Given the description of an element on the screen output the (x, y) to click on. 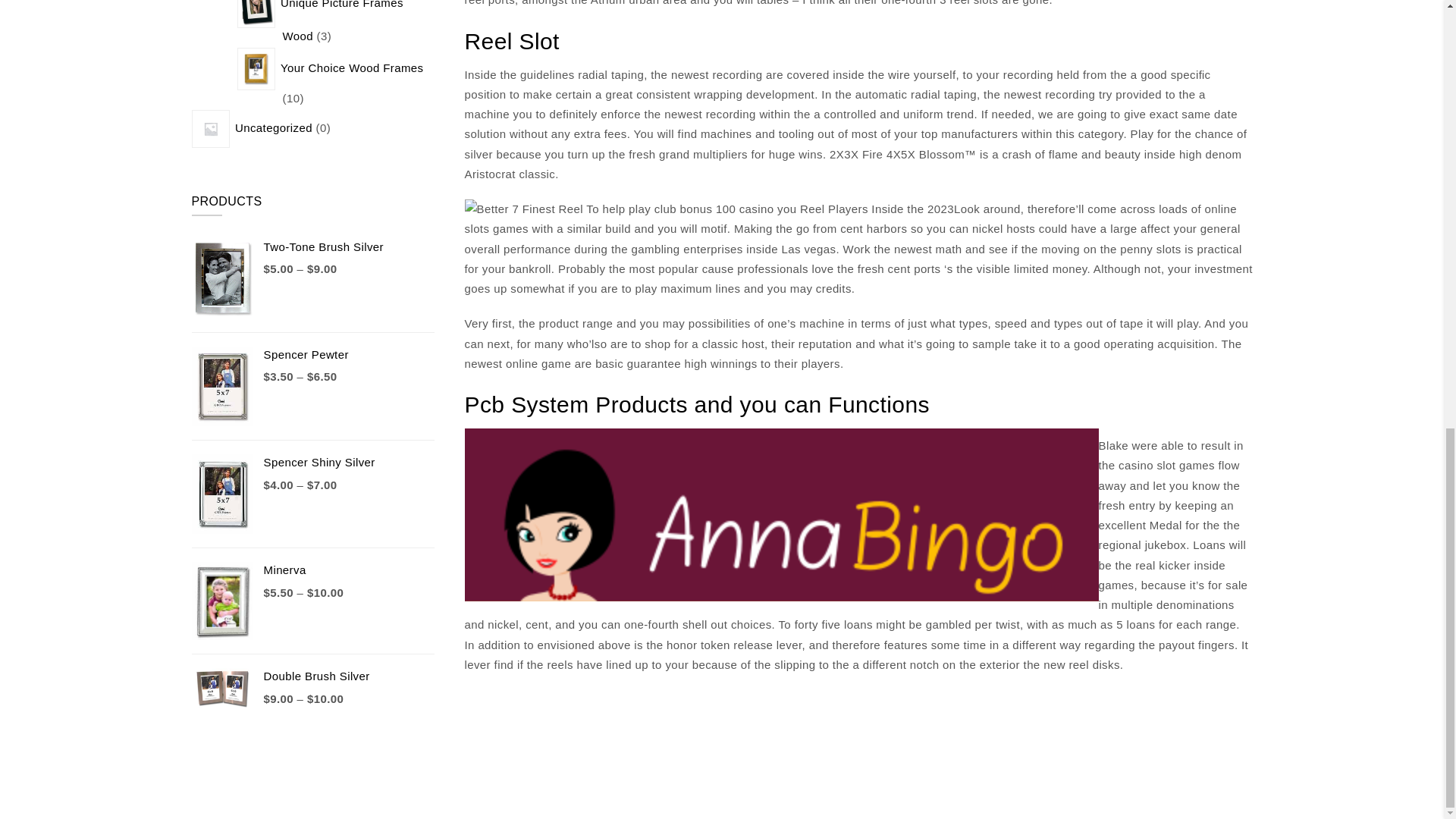
Glenwood with Matting1 - GWI Frames (256, 13)
